Given the description of an element on the screen output the (x, y) to click on. 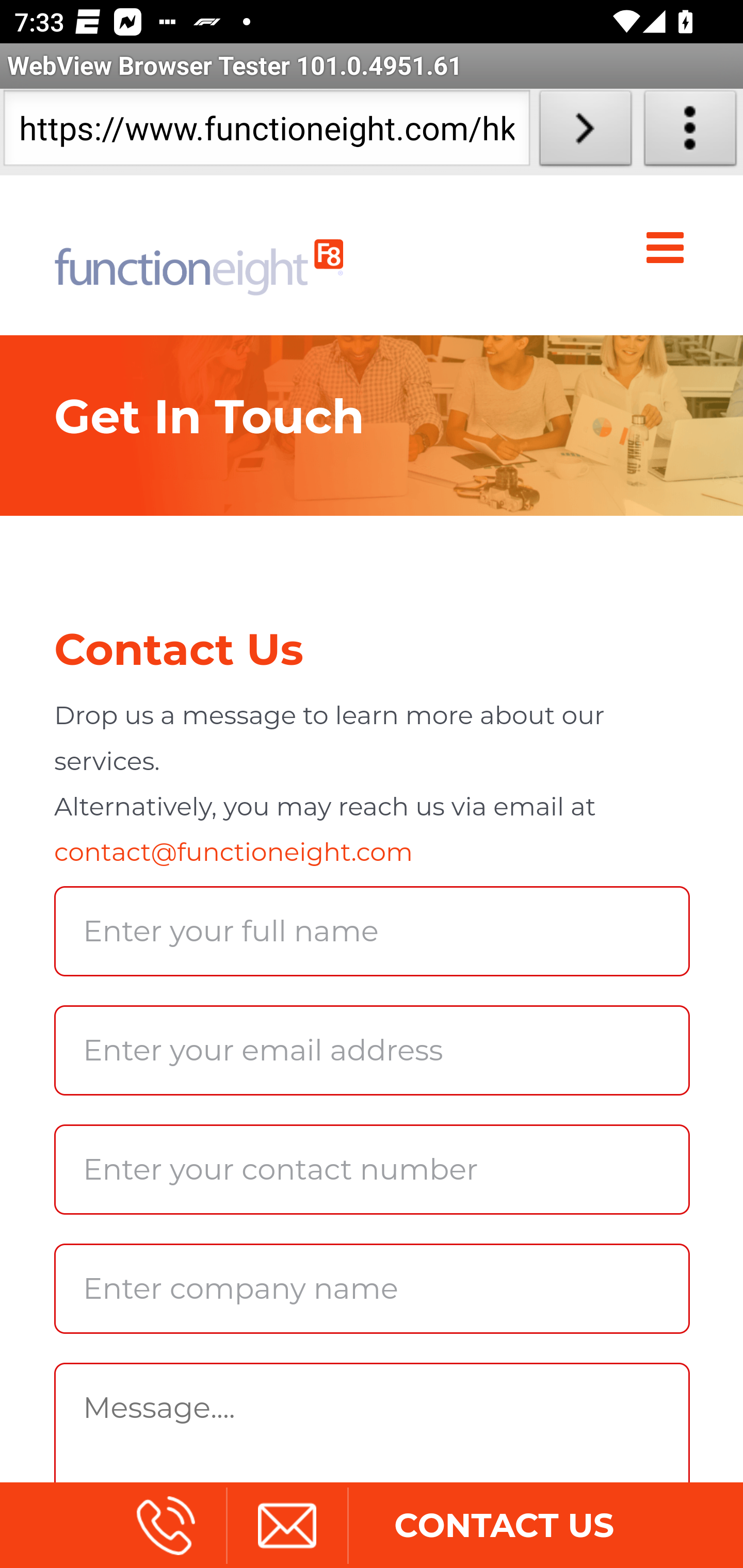
https://www.functioneight.com/hk/contact-us/ (266, 132)
Load URL (585, 132)
About WebView (690, 132)
FunctionEight Hong Kong Logo (199, 254)
Toggle mobile menu  (668, 248)
contact@functioneight.com (233, 851)
email (286, 1524)
CONTACT US (504, 1524)
